Given the description of an element on the screen output the (x, y) to click on. 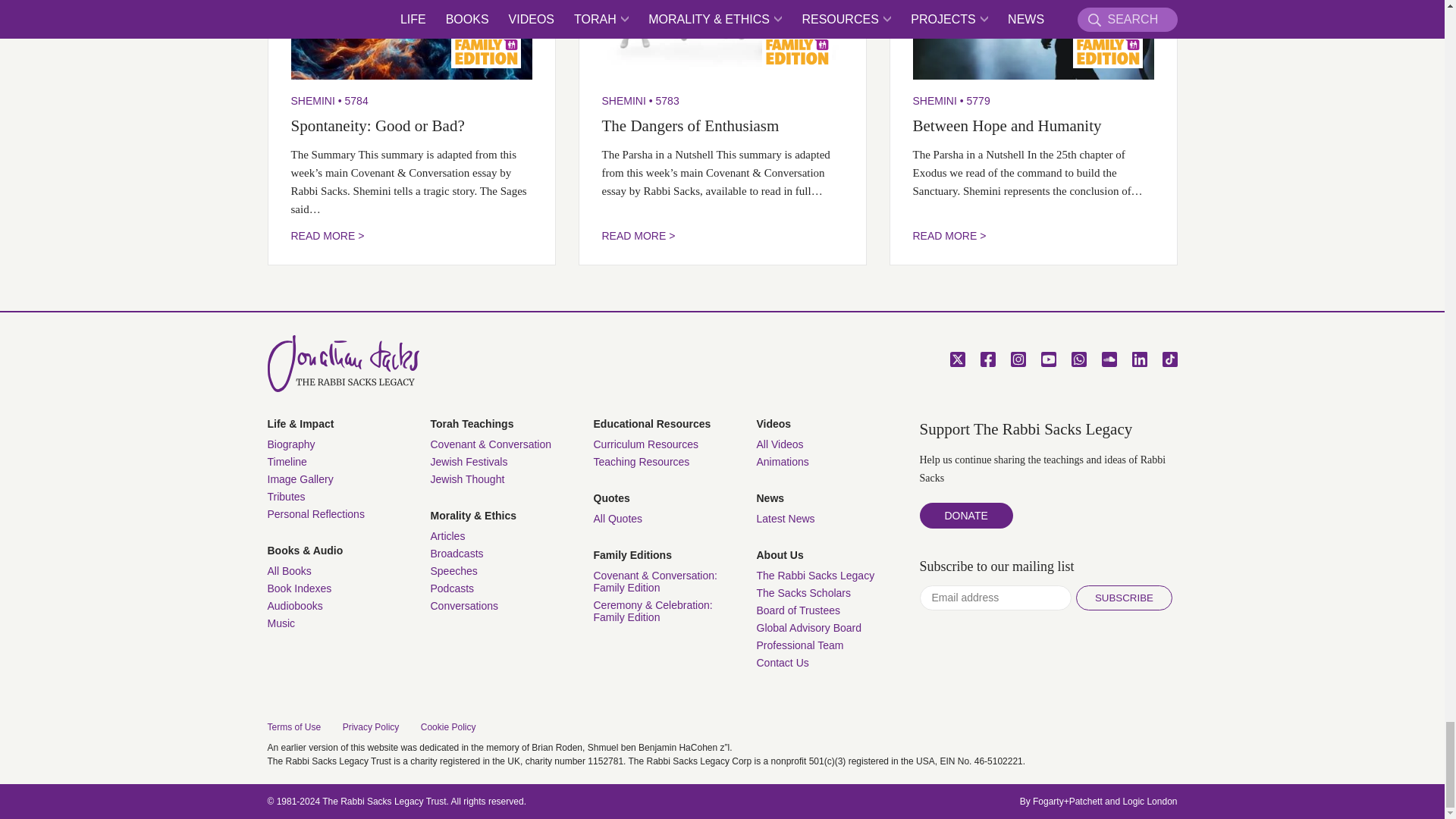
Instagram (1017, 359)
YouTube (1048, 359)
Facebook (986, 359)
Soundcloud (1108, 359)
WhatsApp (1078, 359)
The Rabbi Sacks Legacy (342, 363)
TikTok (1168, 359)
LinkedIn (1139, 359)
